Given the description of an element on the screen output the (x, y) to click on. 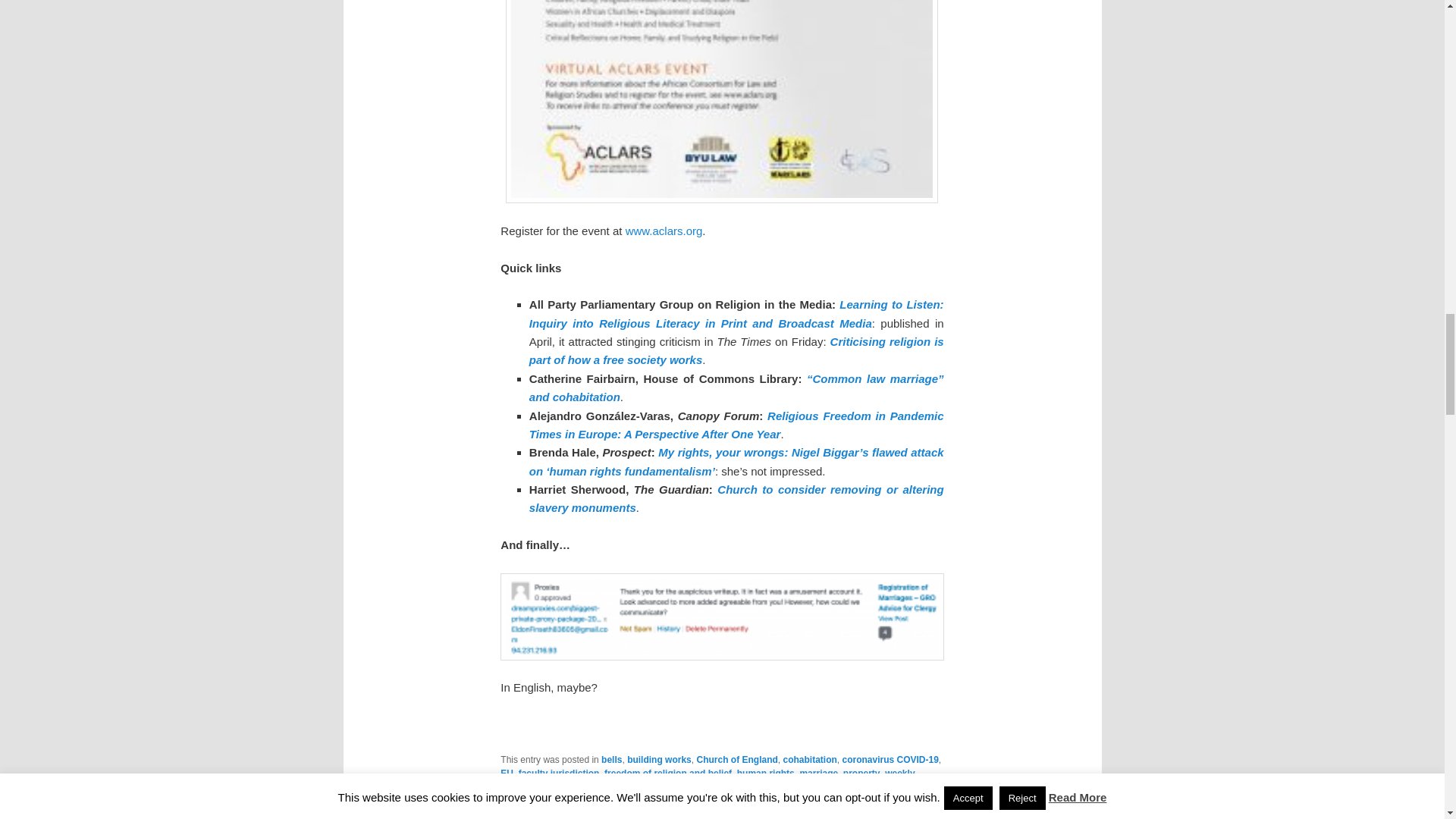
Church of England (736, 759)
bells (611, 759)
coronavirus COVID-19 (889, 759)
building works (659, 759)
Church to consider removing or altering slavery monuments (736, 498)
cohabitation (809, 759)
www.aclars.org (664, 230)
Criticising religion is part of how a free society works (736, 350)
